Given the description of an element on the screen output the (x, y) to click on. 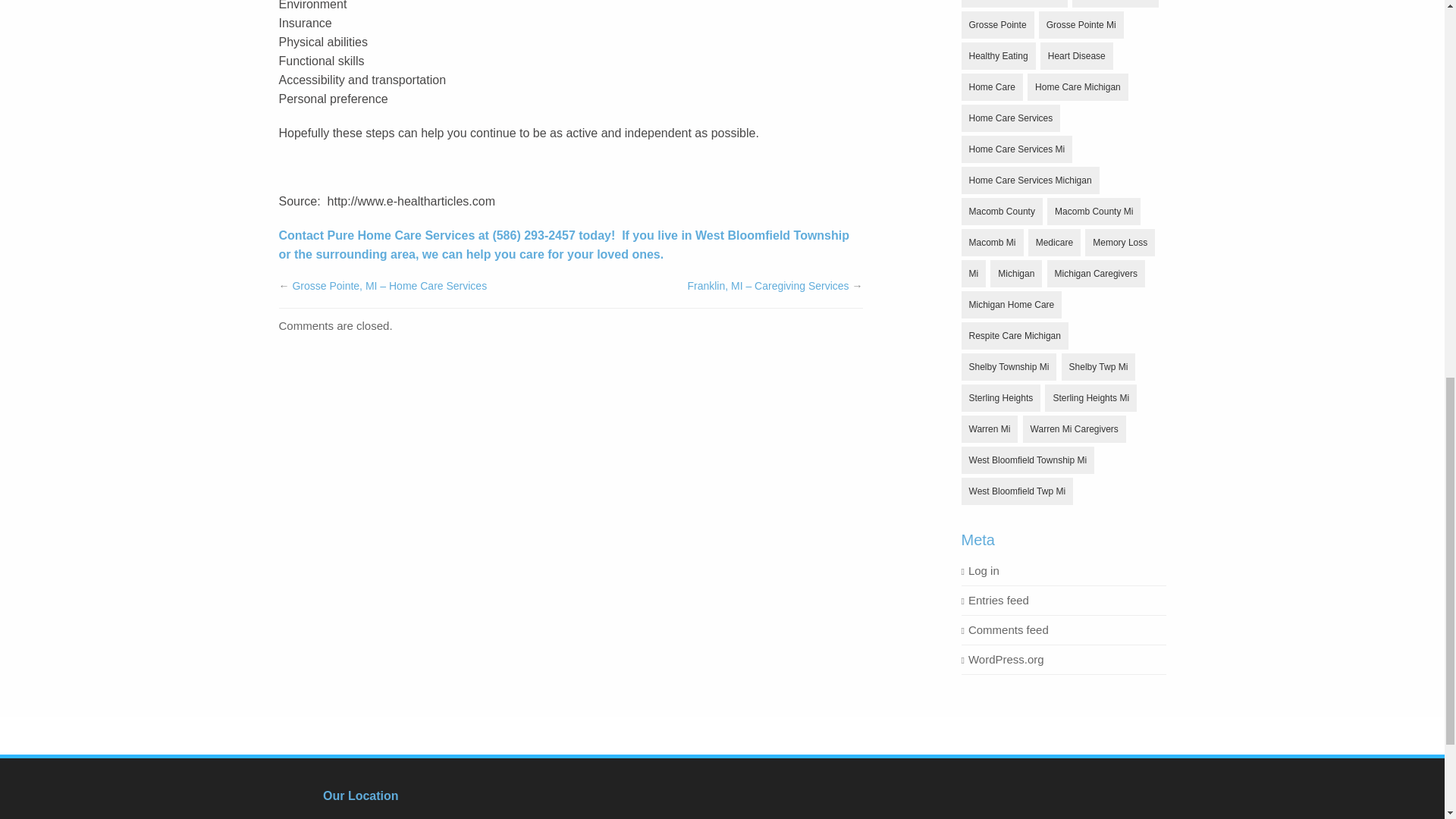
Franklin Mi Caregivers (1013, 3)
